Given the description of an element on the screen output the (x, y) to click on. 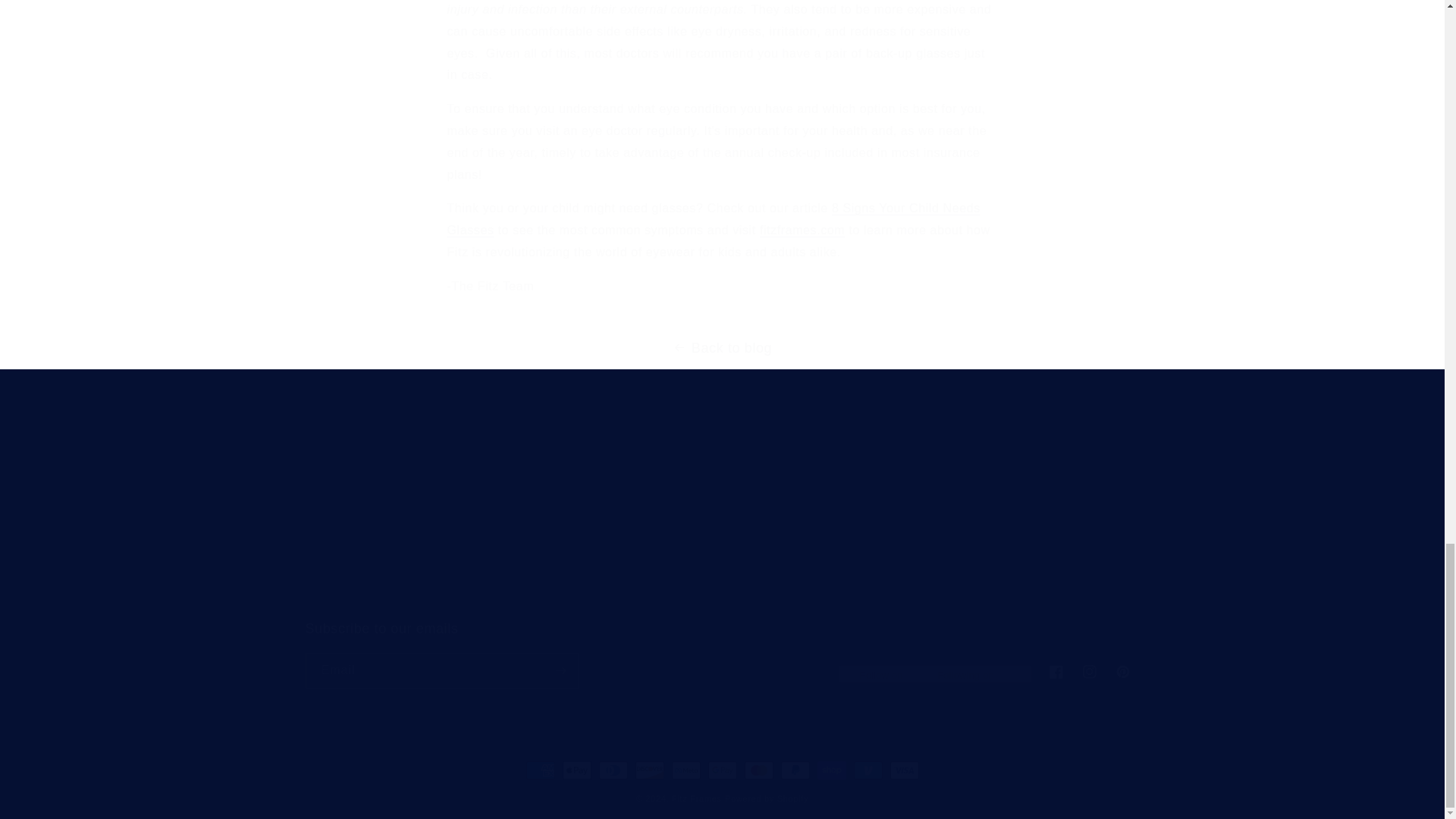
8 Signs Your Child Needs Glasses (712, 218)
Blue Light (330, 572)
Sunglasses (722, 543)
Fitz x Crac (334, 545)
About (721, 653)
fitzframes.com (332, 520)
